Given the description of an element on the screen output the (x, y) to click on. 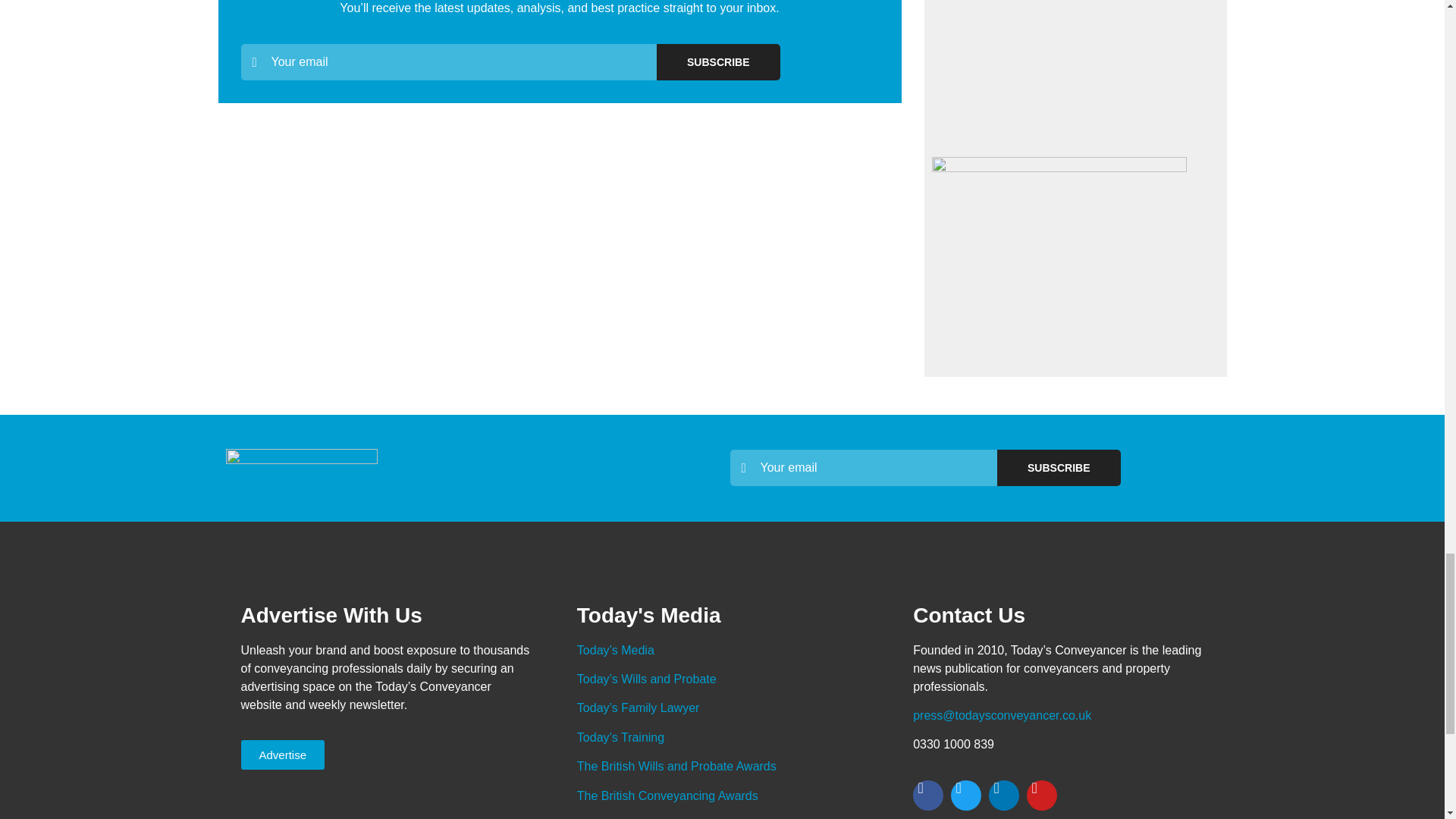
Subscribe (717, 62)
Subscribe (1058, 467)
